Given the description of an element on the screen output the (x, y) to click on. 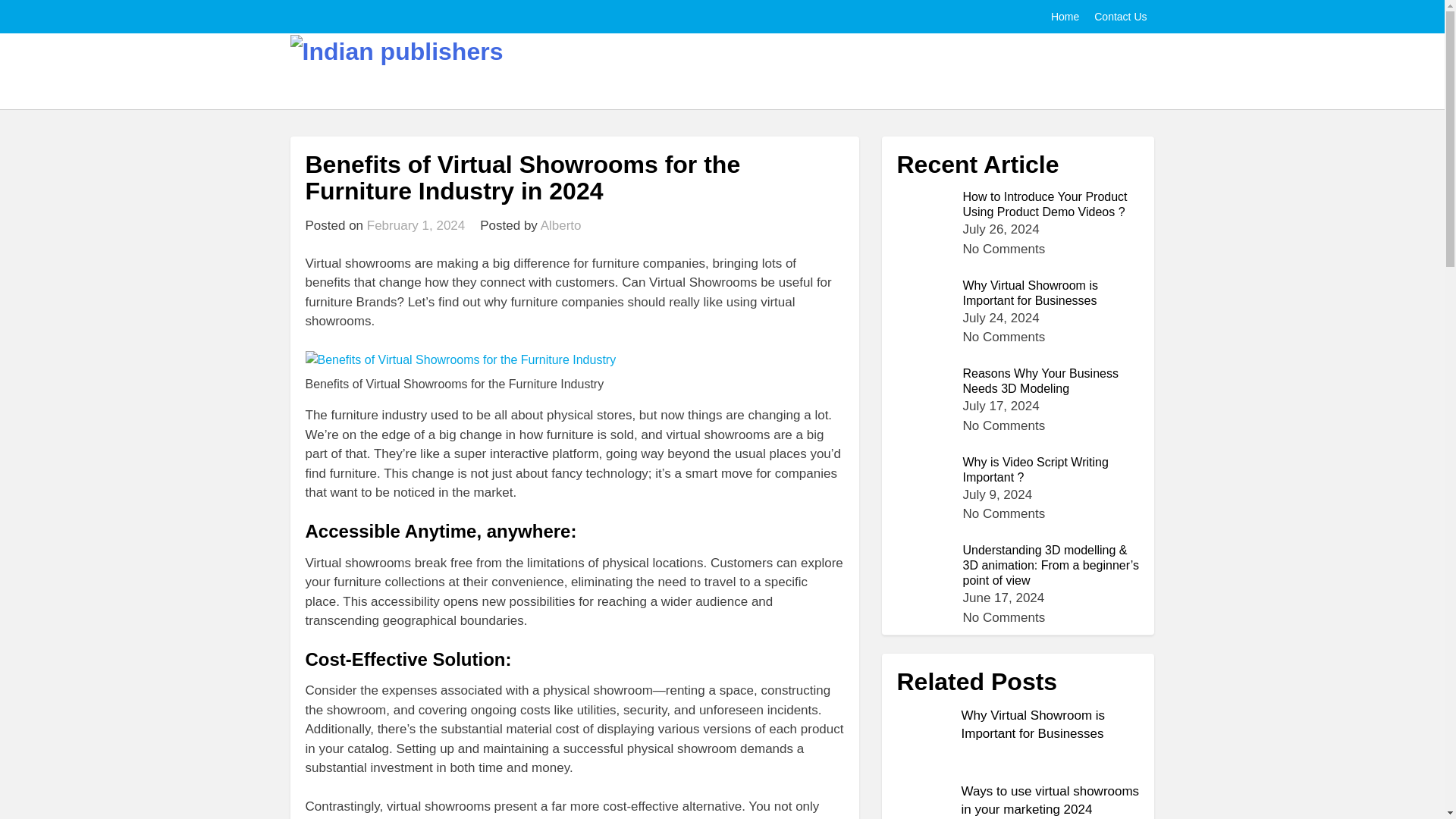
Why Virtual Showroom is Important for Businesses (1017, 293)
Why Virtual Showroom is Important for Businesses (1032, 724)
Ways to use virtual showrooms in your marketing 2024 (1050, 799)
February 1, 2024 (415, 225)
Contact Us (1120, 16)
Alberto (560, 225)
Ways to use virtual showrooms in your marketing 2024 (924, 809)
Home (1064, 16)
Why is Video Script Writing Important ? (1017, 470)
How to Introduce Your Product Using Product Demo Videos ? (1017, 204)
Why Virtual Showroom is Important for Businesses (924, 734)
Home (1064, 16)
Reasons Why Your Business Needs 3D Modeling (1017, 381)
Contact Us (1120, 16)
